Given the description of an element on the screen output the (x, y) to click on. 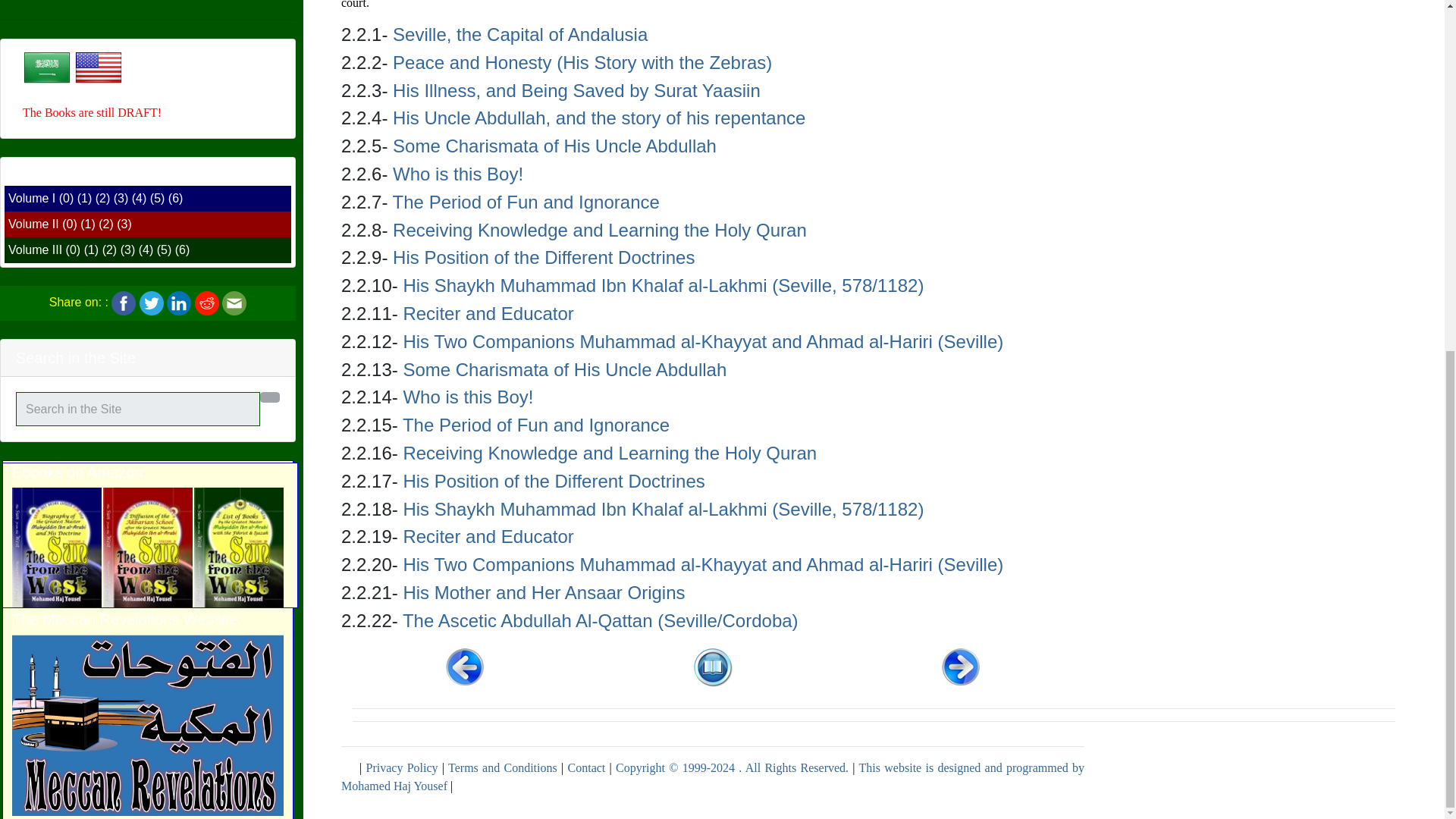
next section (960, 666)
The Sun fromthe West (147, 343)
The Single Monad Model of the Cosmos (147, 618)
The Meccan Revelations (147, 113)
previous section (464, 666)
go back (712, 666)
